Given the description of an element on the screen output the (x, y) to click on. 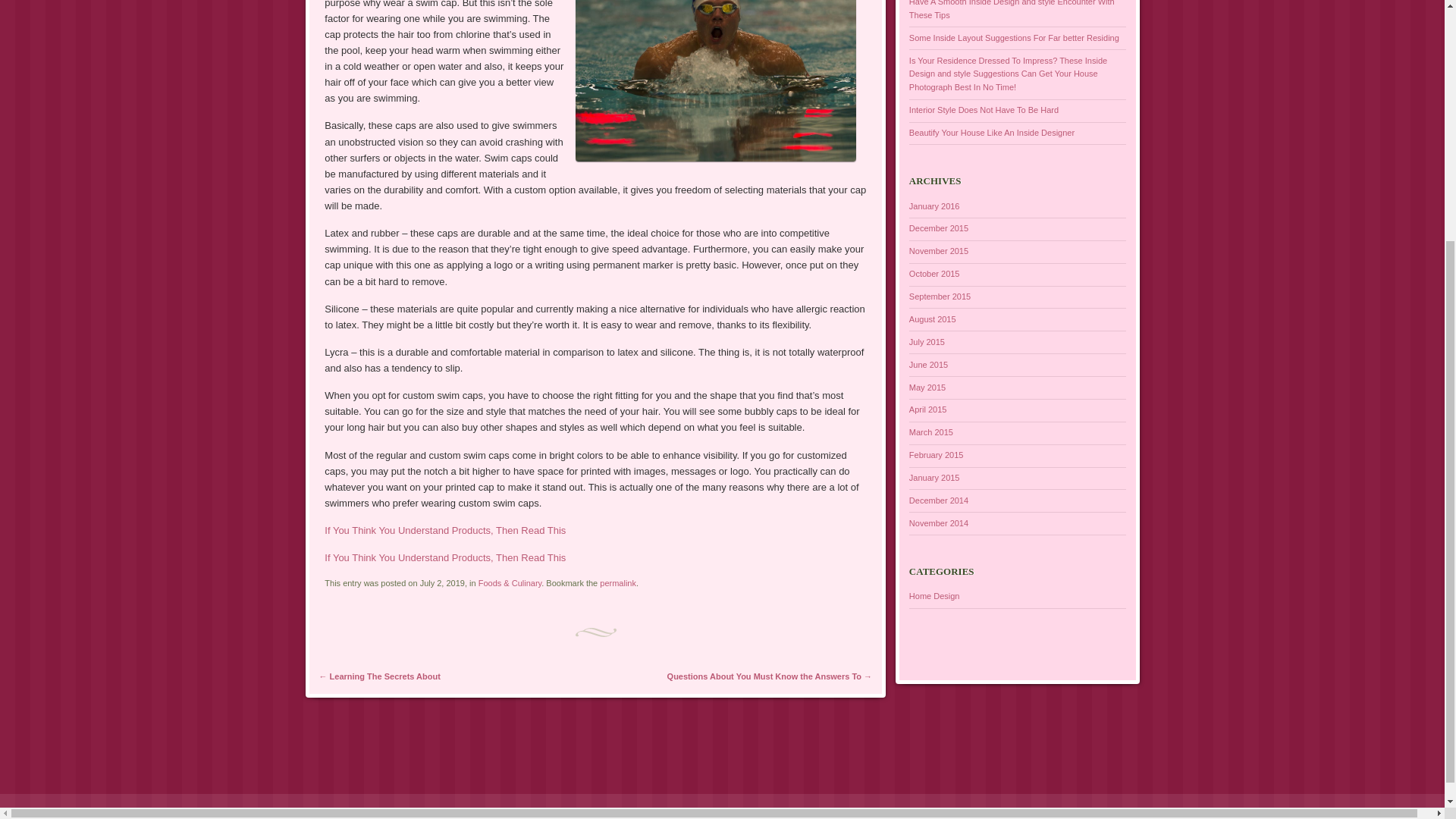
November 2015 (938, 250)
If You Think You Understand Products, Then Read This (445, 557)
If You Think You Understand Products, Then Read This (445, 530)
December 2014 (938, 500)
December 2015 (938, 227)
April 2015 (927, 409)
Some Inside Layout Suggestions For Far better Residing (1013, 37)
March 2015 (930, 431)
October 2015 (933, 273)
